Given the description of an element on the screen output the (x, y) to click on. 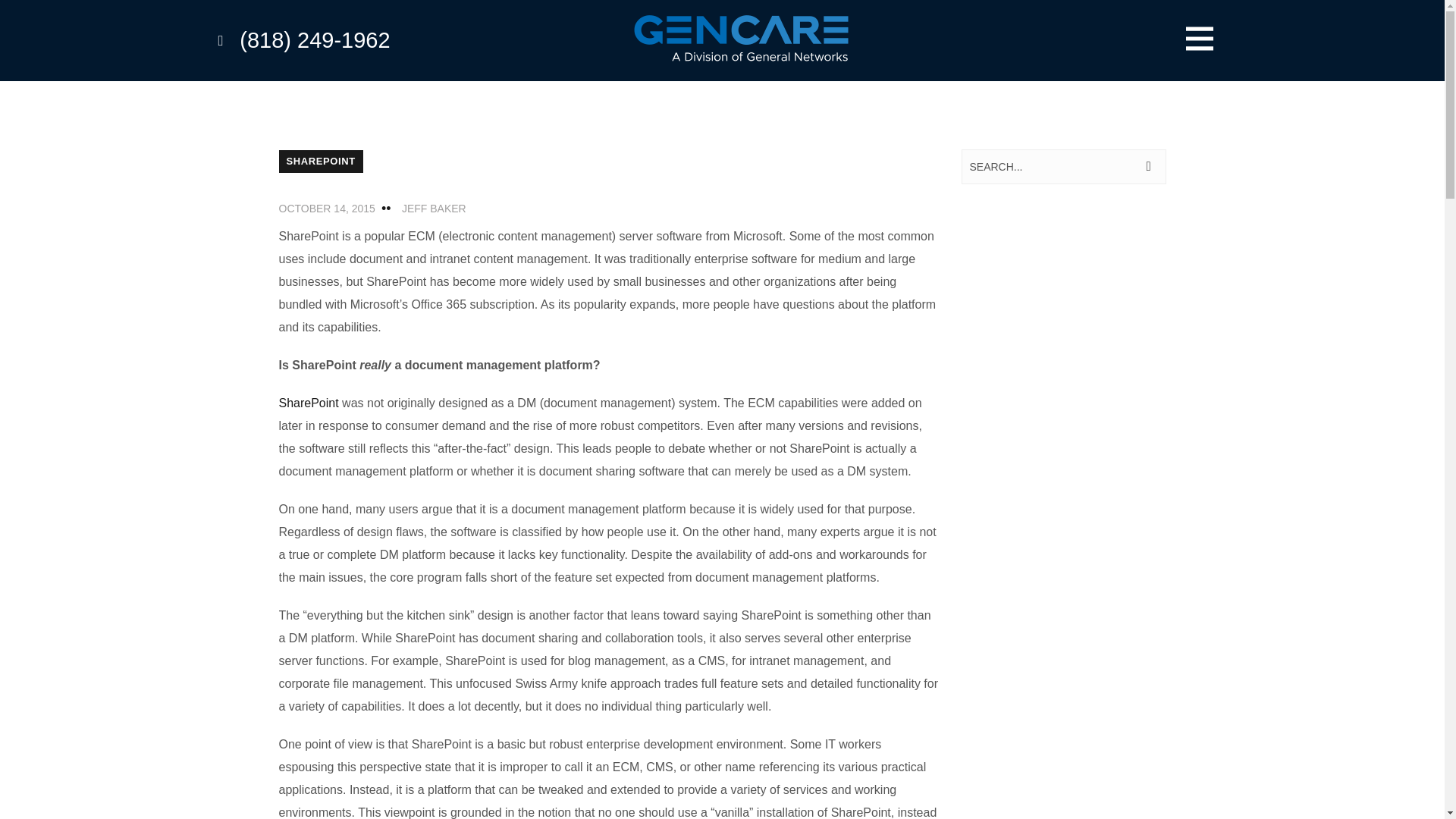
JEFF BAKER (433, 208)
OCTOBER 14, 2015 (327, 208)
SharePoint (309, 402)
menu (1199, 38)
SHAREPOINT (320, 160)
